Given the description of an element on the screen output the (x, y) to click on. 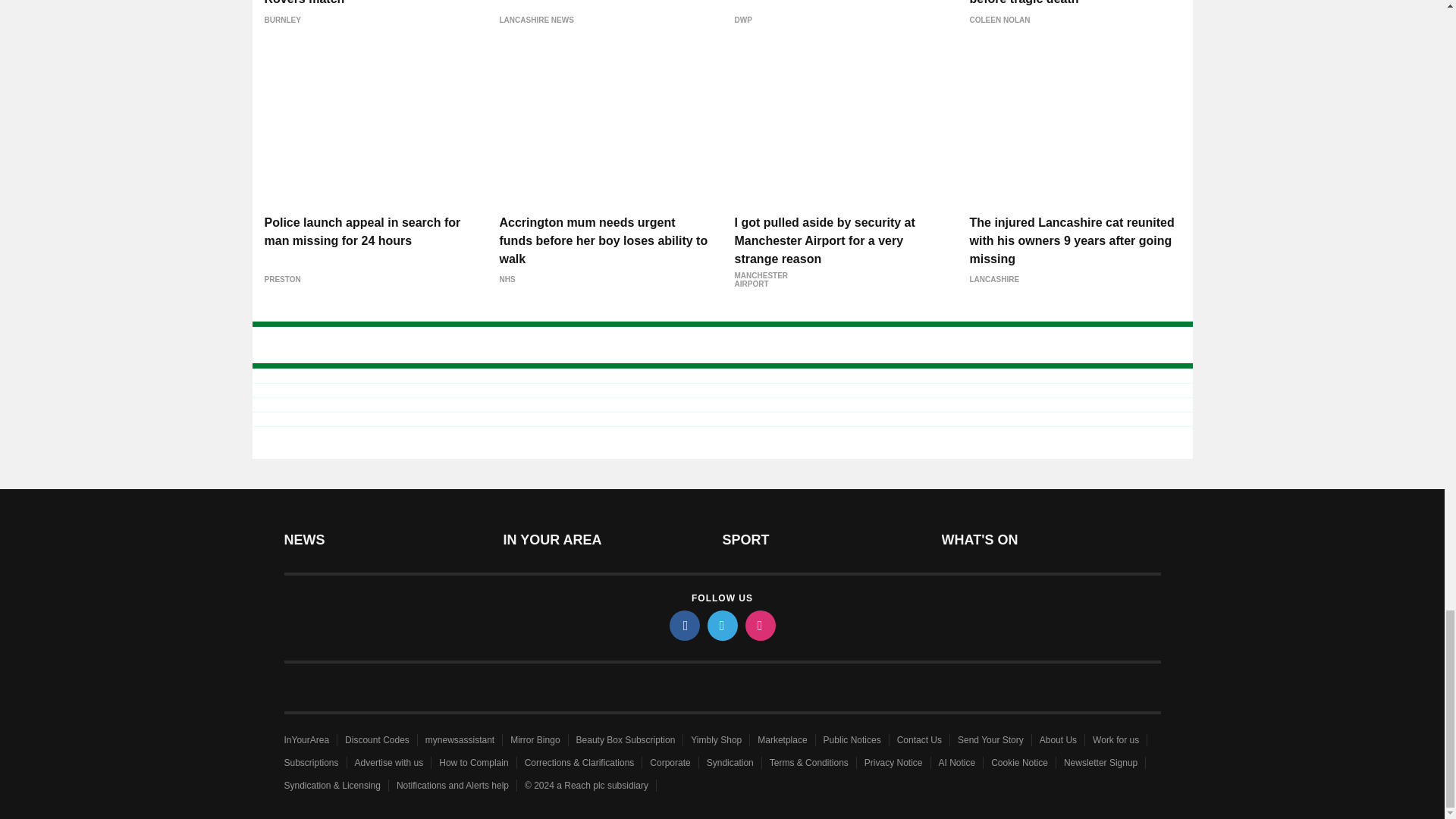
instagram (759, 625)
twitter (721, 625)
facebook (683, 625)
